Given the description of an element on the screen output the (x, y) to click on. 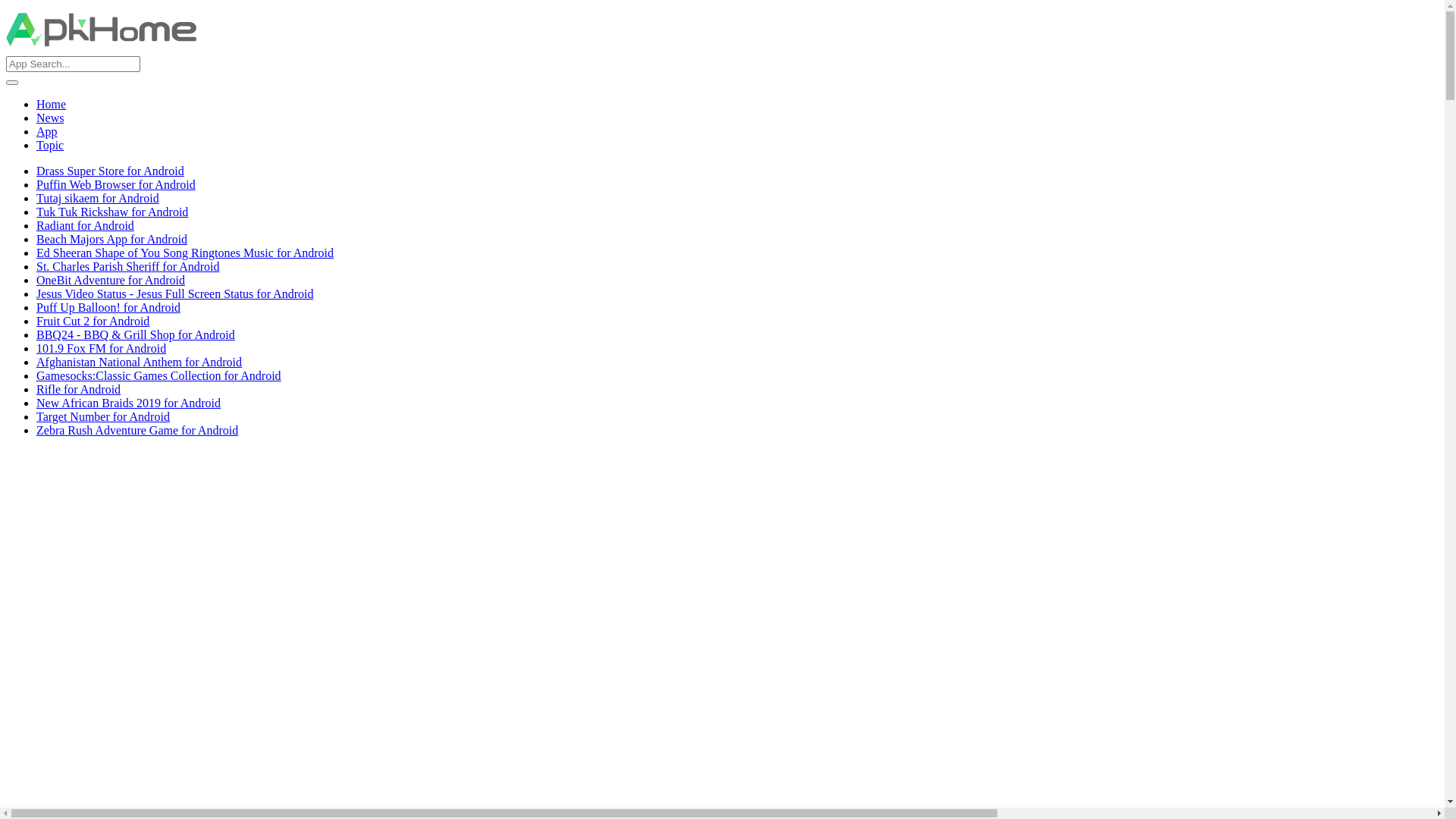
St. Charles Parish Sheriff for Android Element type: text (127, 266)
Rifle for Android Element type: text (78, 388)
New African Braids 2019 for Android Element type: text (128, 402)
Afghanistan National Anthem for Android Element type: text (138, 361)
Gamesocks:Classic Games Collection for Android Element type: text (158, 375)
Fruit Cut 2 for Android Element type: text (92, 320)
OneBit Adventure for Android Element type: text (110, 279)
Zebra Rush Adventure Game for Android Element type: text (137, 429)
Puff Up Balloon! for Android Element type: text (108, 307)
BBQ24 - BBQ & Grill Shop for Android Element type: text (135, 334)
Home Element type: text (50, 103)
Puffin Web Browser for Android Element type: text (115, 184)
News Element type: text (49, 117)
App Element type: text (46, 131)
Tuk Tuk Rickshaw for Android Element type: text (112, 211)
Target Number for Android Element type: text (102, 416)
Beach Majors App for Android Element type: text (111, 238)
101.9 Fox FM for Android Element type: text (101, 348)
Radiant for Android Element type: text (85, 225)
Jesus Video Status - Jesus Full Screen Status for Android Element type: text (174, 293)
Ed Sheeran Shape of You Song Ringtones Music for Android Element type: text (184, 252)
Tutaj sikaem for Android Element type: text (97, 197)
Topic Element type: text (49, 144)
Drass Super Store for Android Element type: text (110, 170)
